Given the description of an element on the screen output the (x, y) to click on. 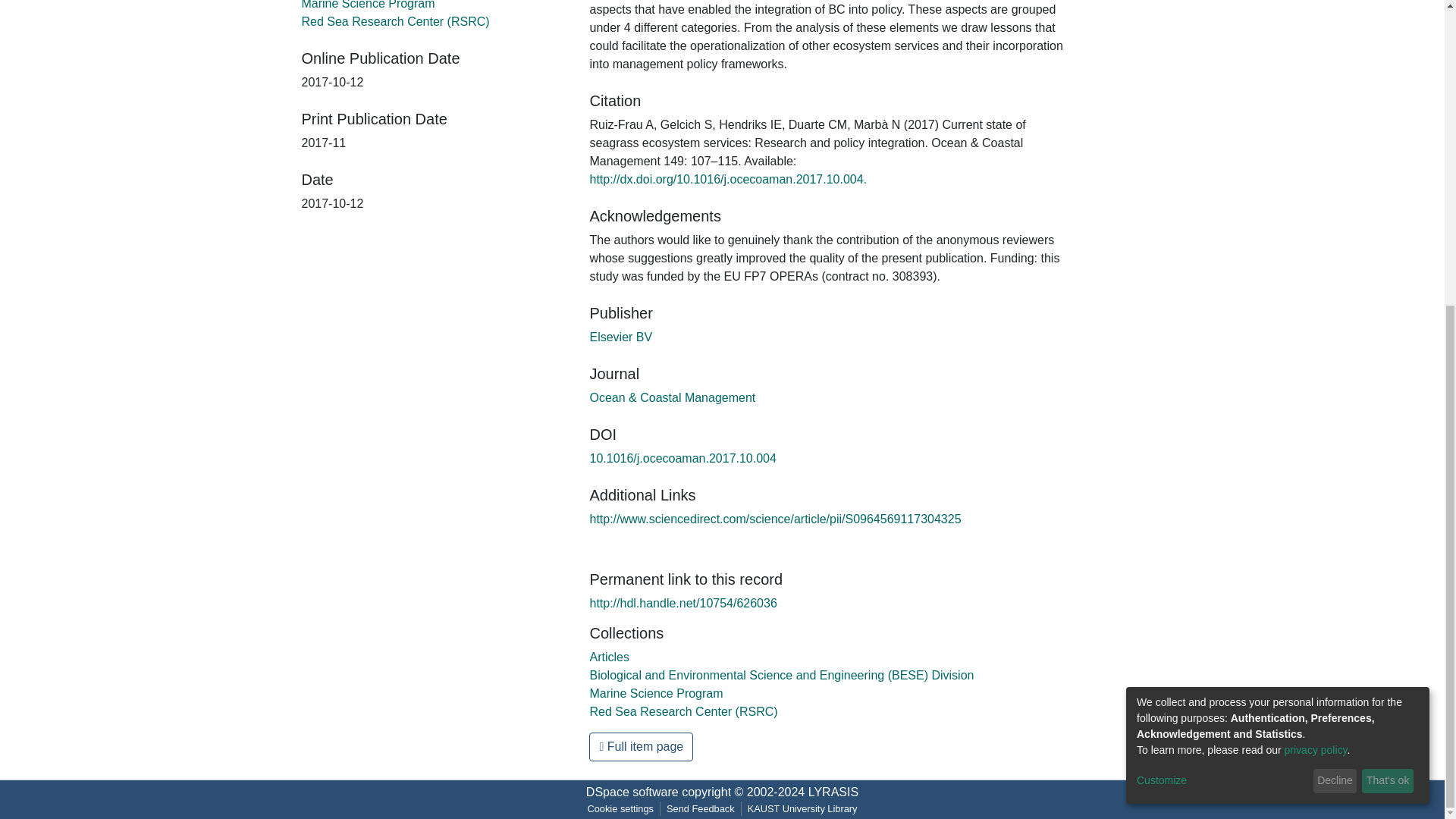
Cookie settings (619, 808)
Articles (608, 656)
LYRASIS (833, 791)
KAUST University Library (802, 808)
DSpace software (632, 791)
Marine Science Program (655, 693)
Full item page (641, 746)
That's ok (1387, 300)
privacy policy (1316, 269)
Marine Science Program (368, 4)
Elsevier BV (620, 336)
Customize (1222, 300)
Decline (1334, 300)
Send Feedback (701, 808)
